Given the description of an element on the screen output the (x, y) to click on. 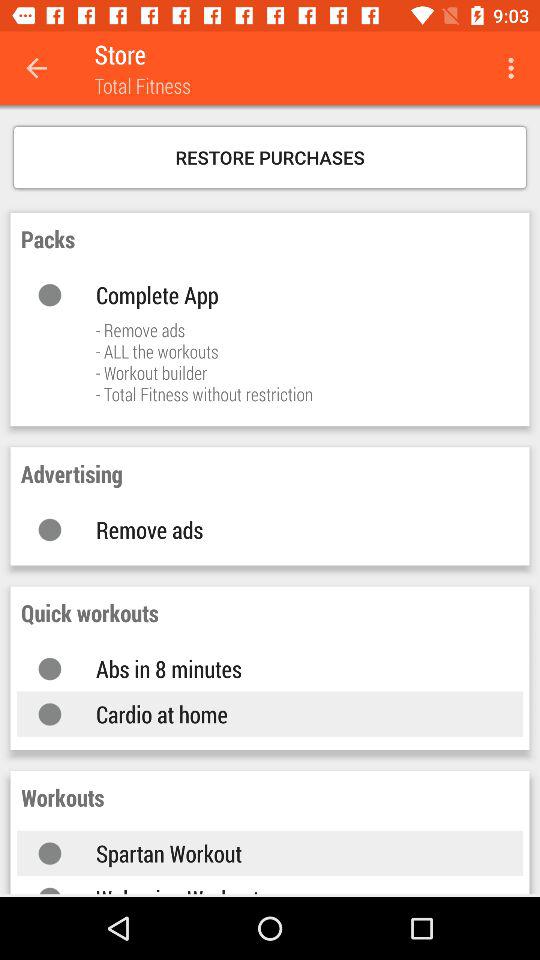
jump until wolverine workout (289, 889)
